Given the description of an element on the screen output the (x, y) to click on. 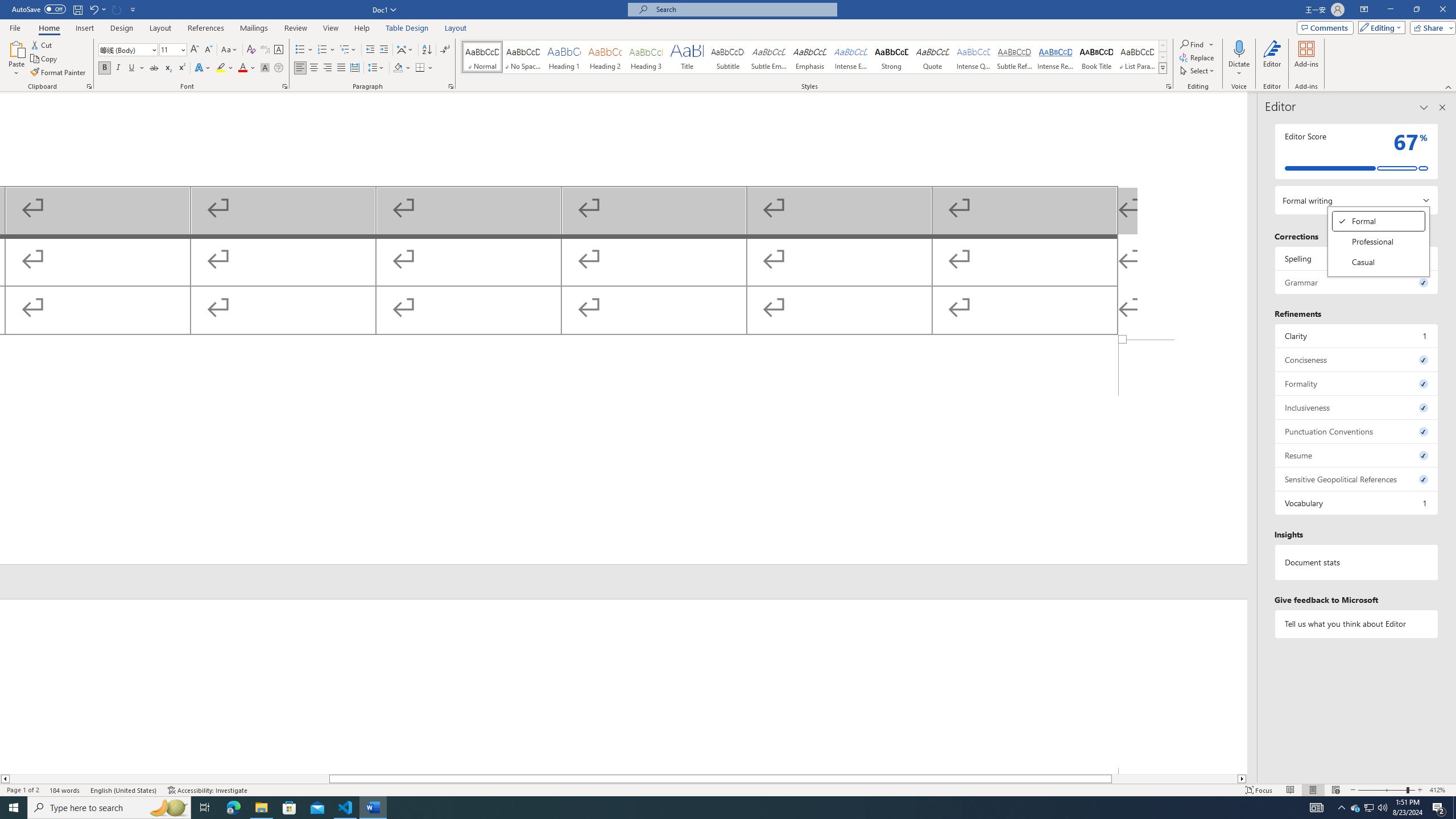
Column right (1378, 262)
Microsoft Store (1242, 778)
Show desktop (289, 807)
Visual Studio Code - 1 running window (1454, 807)
